Given the description of an element on the screen output the (x, y) to click on. 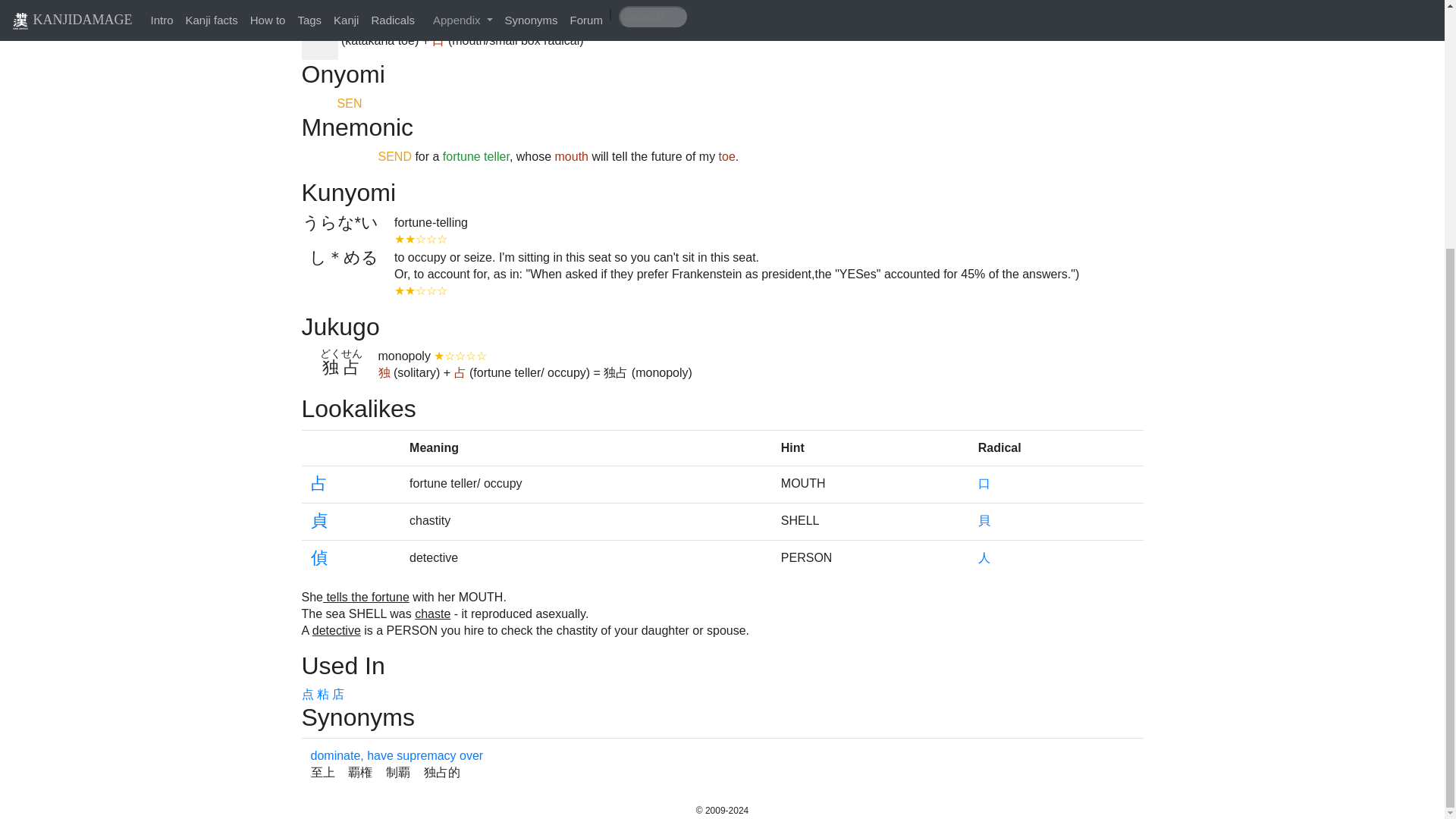
1 out of 5 stars (459, 355)
JERK (1125, 16)
dominate, have supremacy over (397, 755)
2 out of 5 stars (420, 238)
2 out of 5 stars (420, 290)
